Given the description of an element on the screen output the (x, y) to click on. 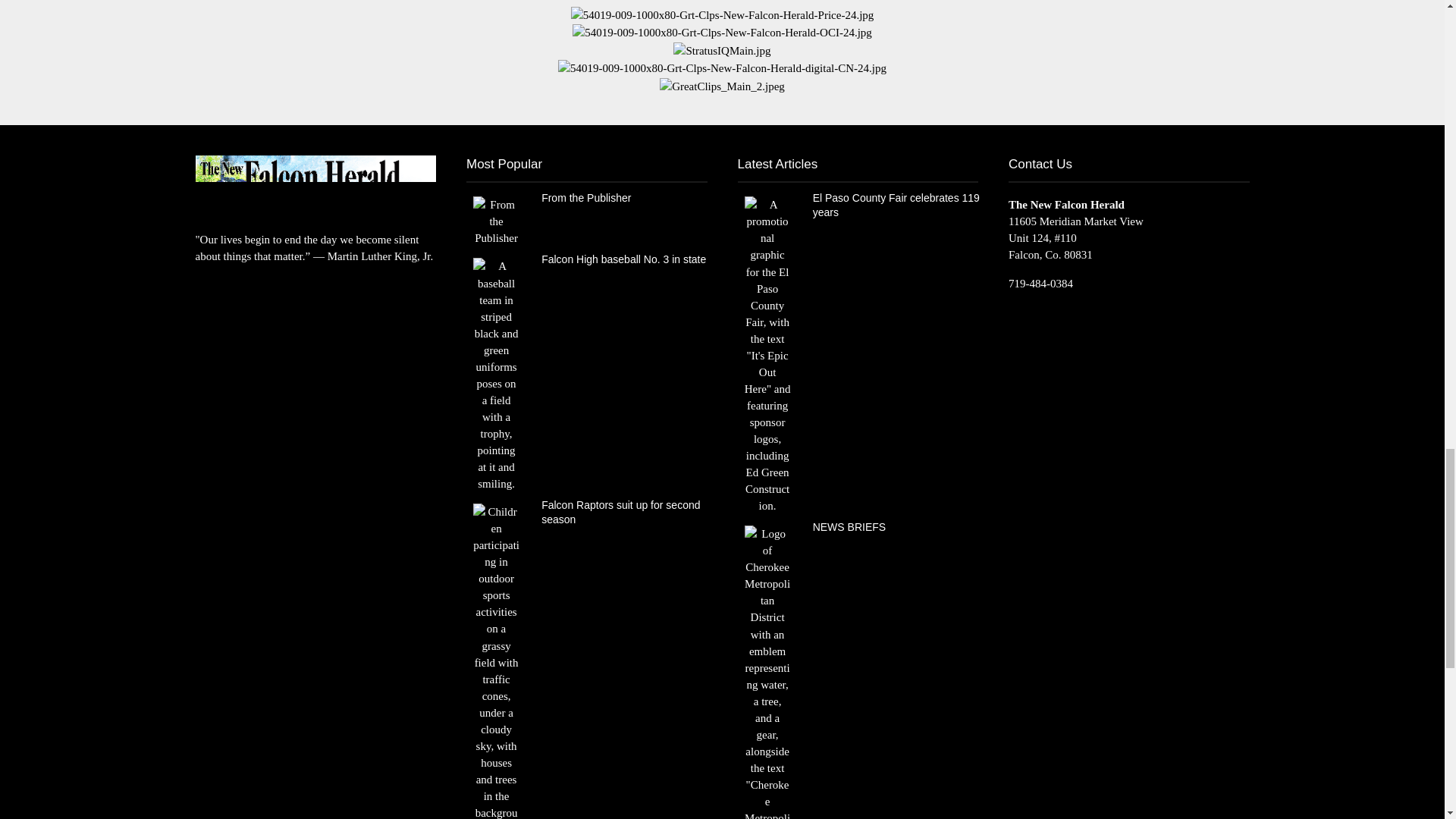
NEWS BRIEFS (767, 725)
Falcon High baseball No. 3 in state (496, 373)
El Paso County Fair celebrates 119 years (767, 354)
Falcon Raptors suit up for second season (496, 669)
From the Publisher (496, 220)
